Given the description of an element on the screen output the (x, y) to click on. 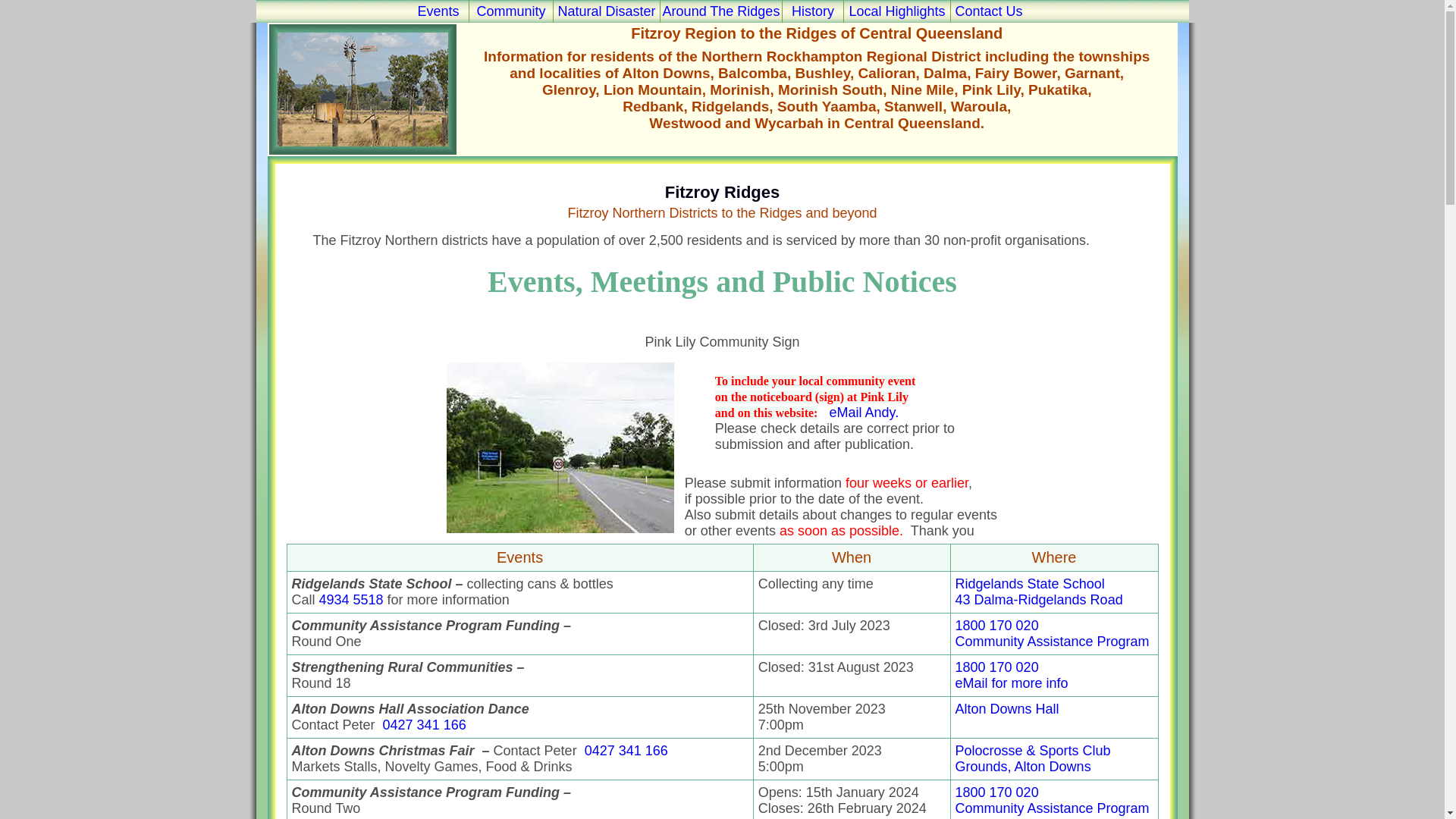
Events Element type: text (438, 11)
Alton Downs Hall Element type: text (1007, 708)
0427 341 166 Element type: text (424, 724)
1800 170 020 Element type: text (996, 666)
Community Sign at Pink Lily Element type: hover (560, 528)
1800 170 020 Element type: text (996, 792)
History Element type: text (813, 11)
Polocrosse & Sports Club
Grounds, Alton Downs Element type: text (1032, 758)
Community Assistance Program Element type: text (1052, 807)
Ridgelands State School
43 Dalma-Ridgelands Road Element type: text (1039, 591)
Contact Us Element type: text (988, 11)
Natural Disaster Element type: text (606, 11)
Around The Ridges Element type: text (720, 11)
1800 170 020 Element type: text (996, 625)
Local Highlights Element type: text (896, 11)
4934 5518 Element type: text (351, 599)
Community Element type: text (510, 11)
0427 341 166 Element type: text (626, 750)
  eMail Andy. Element type: text (859, 412)
Community Assistance Program Element type: text (1052, 641)
eMail for more info Element type: text (1011, 682)
